Given the description of an element on the screen output the (x, y) to click on. 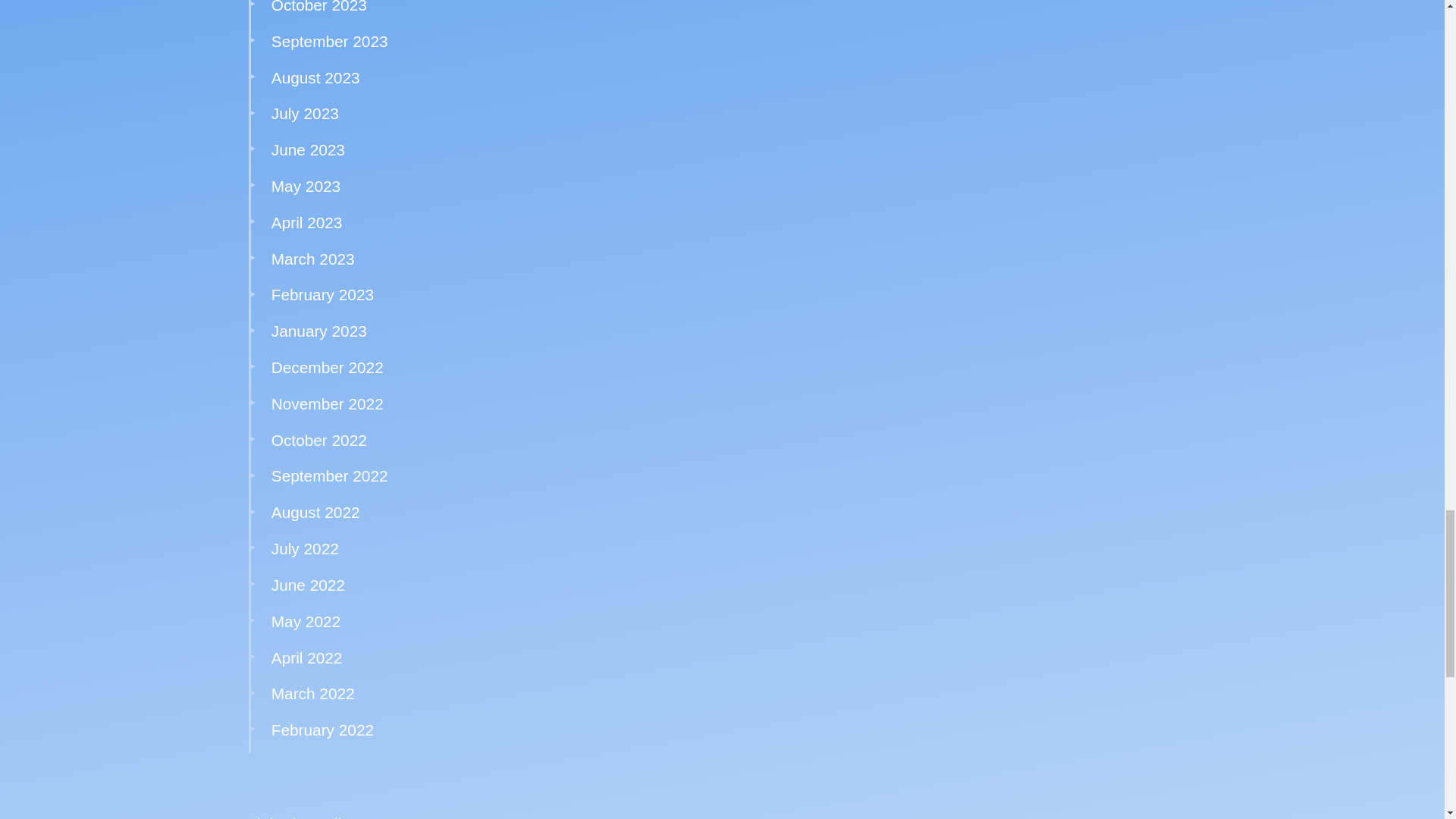
October 2023 (318, 6)
November 2022 (327, 403)
December 2022 (327, 366)
May 2023 (305, 185)
April 2023 (306, 221)
September 2022 (329, 475)
October 2022 (318, 439)
June 2023 (307, 149)
March 2023 (312, 258)
August 2022 (314, 511)
January 2023 (318, 330)
August 2023 (314, 77)
July 2023 (304, 113)
February 2023 (322, 294)
September 2023 (329, 40)
